Given the description of an element on the screen output the (x, y) to click on. 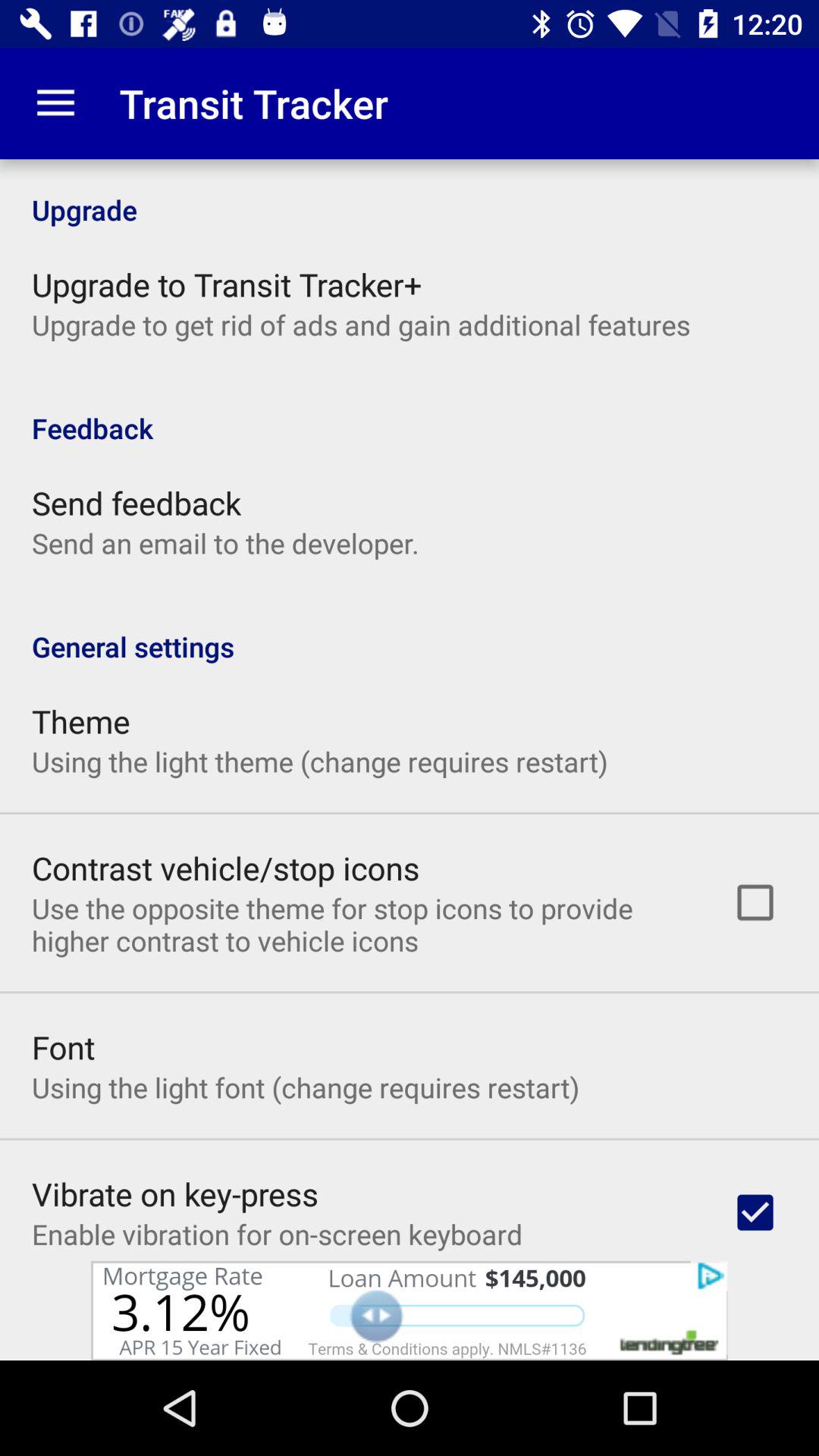
click the add (409, 1310)
